Given the description of an element on the screen output the (x, y) to click on. 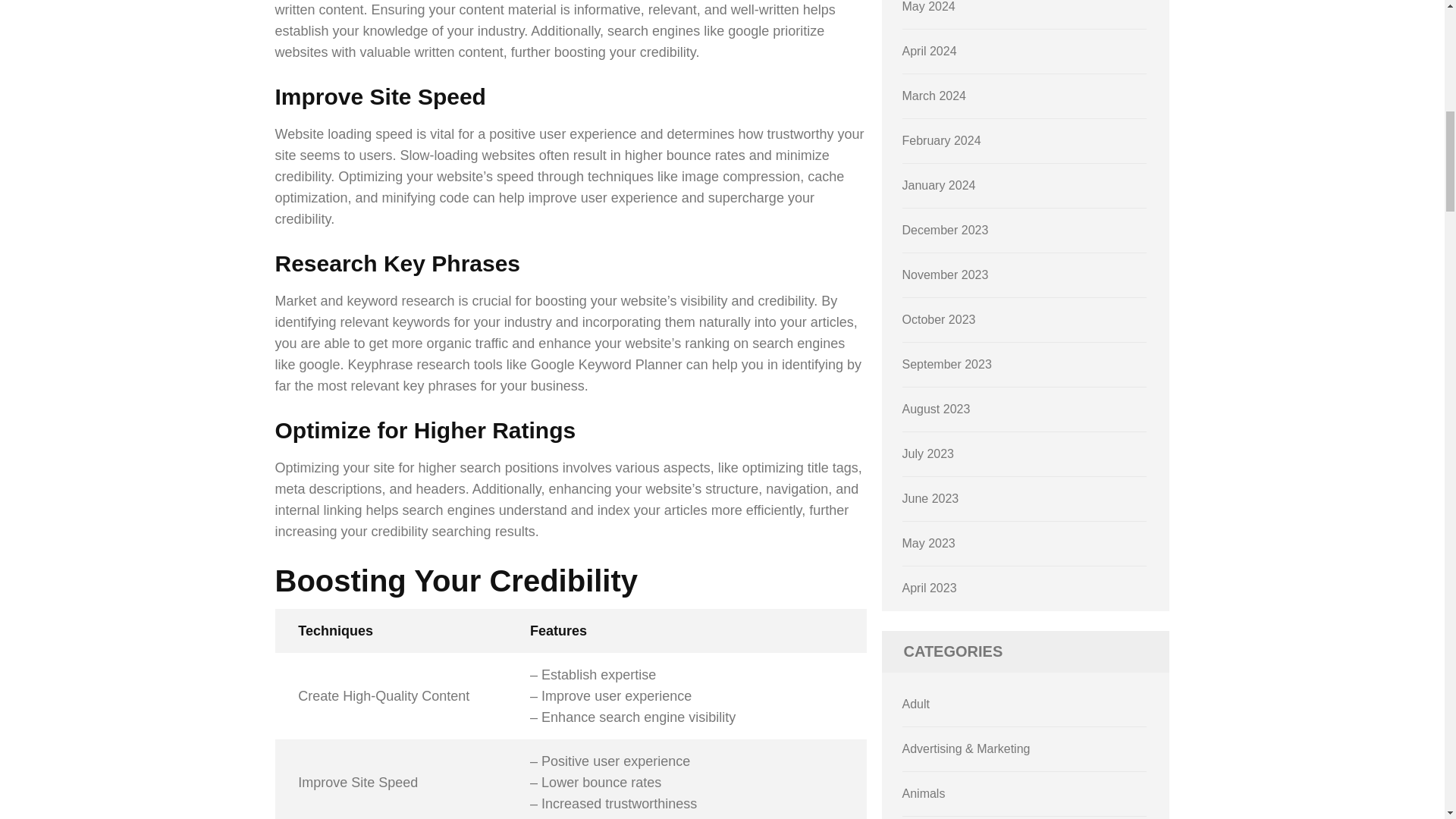
September 2023 (946, 364)
June 2023 (930, 498)
December 2023 (945, 229)
May 2024 (928, 6)
March 2024 (934, 95)
November 2023 (945, 274)
October 2023 (938, 318)
August 2023 (936, 408)
July 2023 (928, 453)
January 2024 (938, 185)
May 2023 (928, 543)
February 2024 (941, 140)
April 2023 (929, 587)
April 2024 (929, 51)
